Given the description of an element on the screen output the (x, y) to click on. 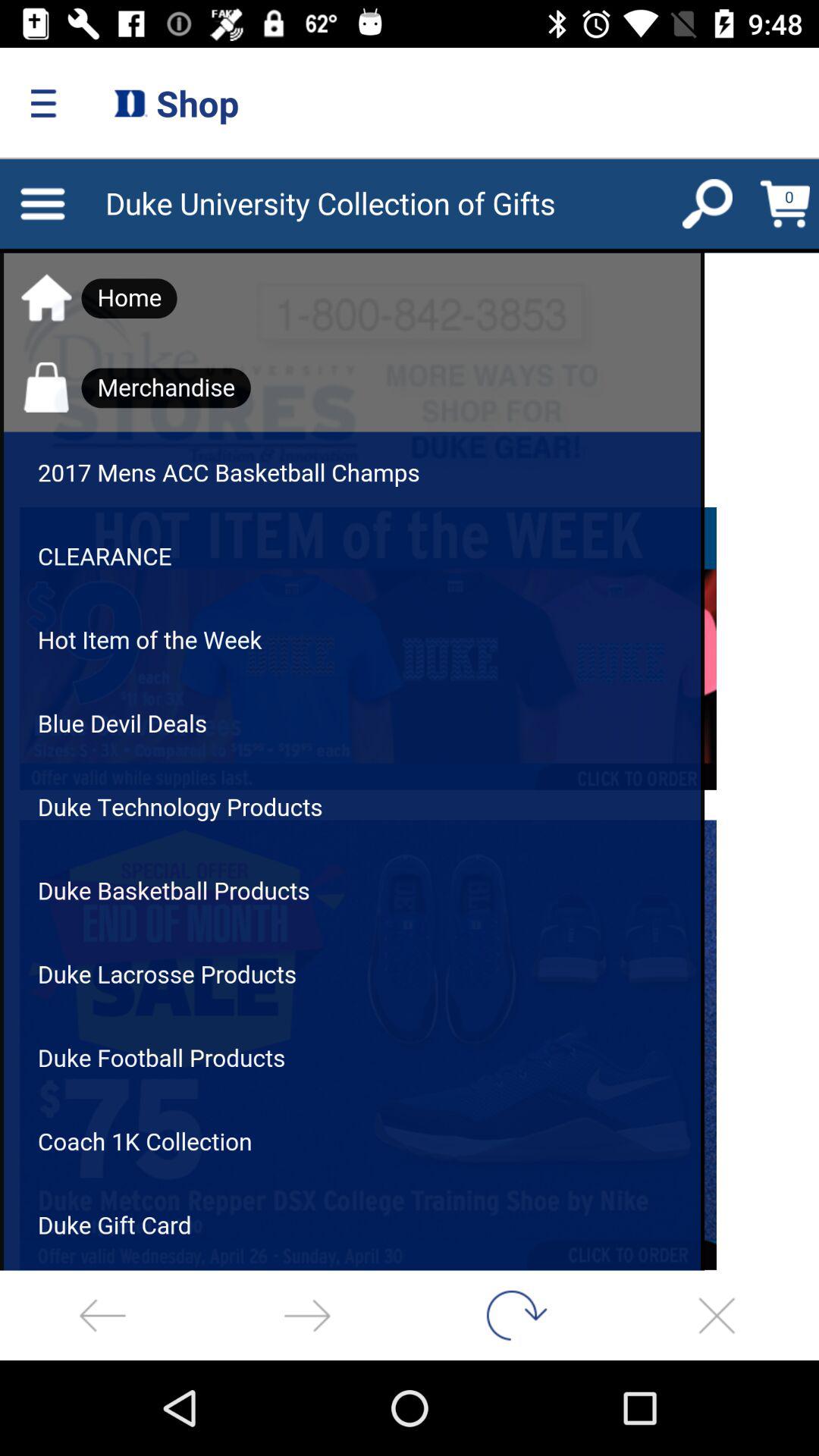
duke shop main page (409, 714)
